Given the description of an element on the screen output the (x, y) to click on. 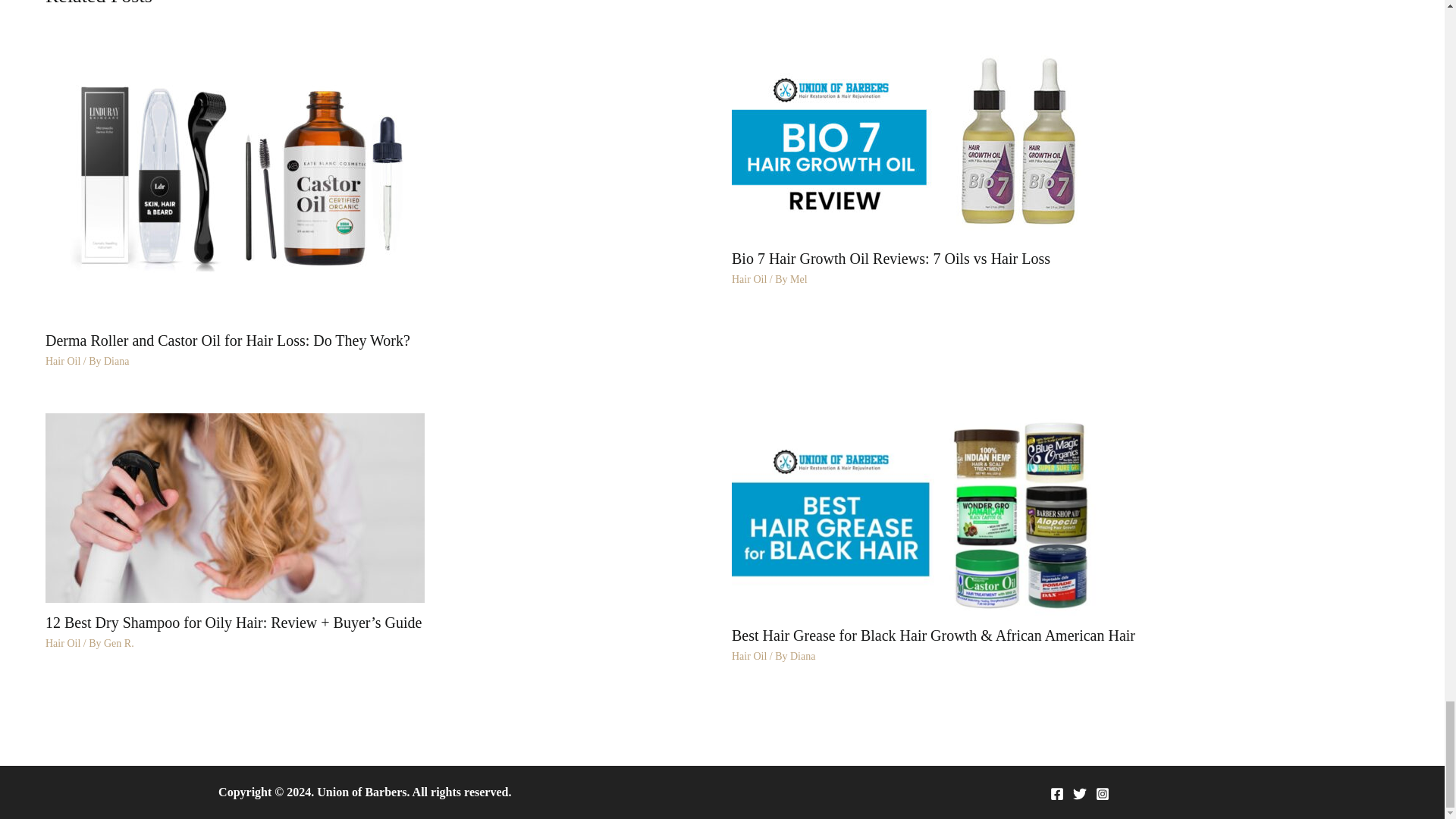
Derma Roller and Castor Oil for Hair Loss: Do They Work? (235, 178)
View all posts by Diana (116, 360)
